Given the description of an element on the screen output the (x, y) to click on. 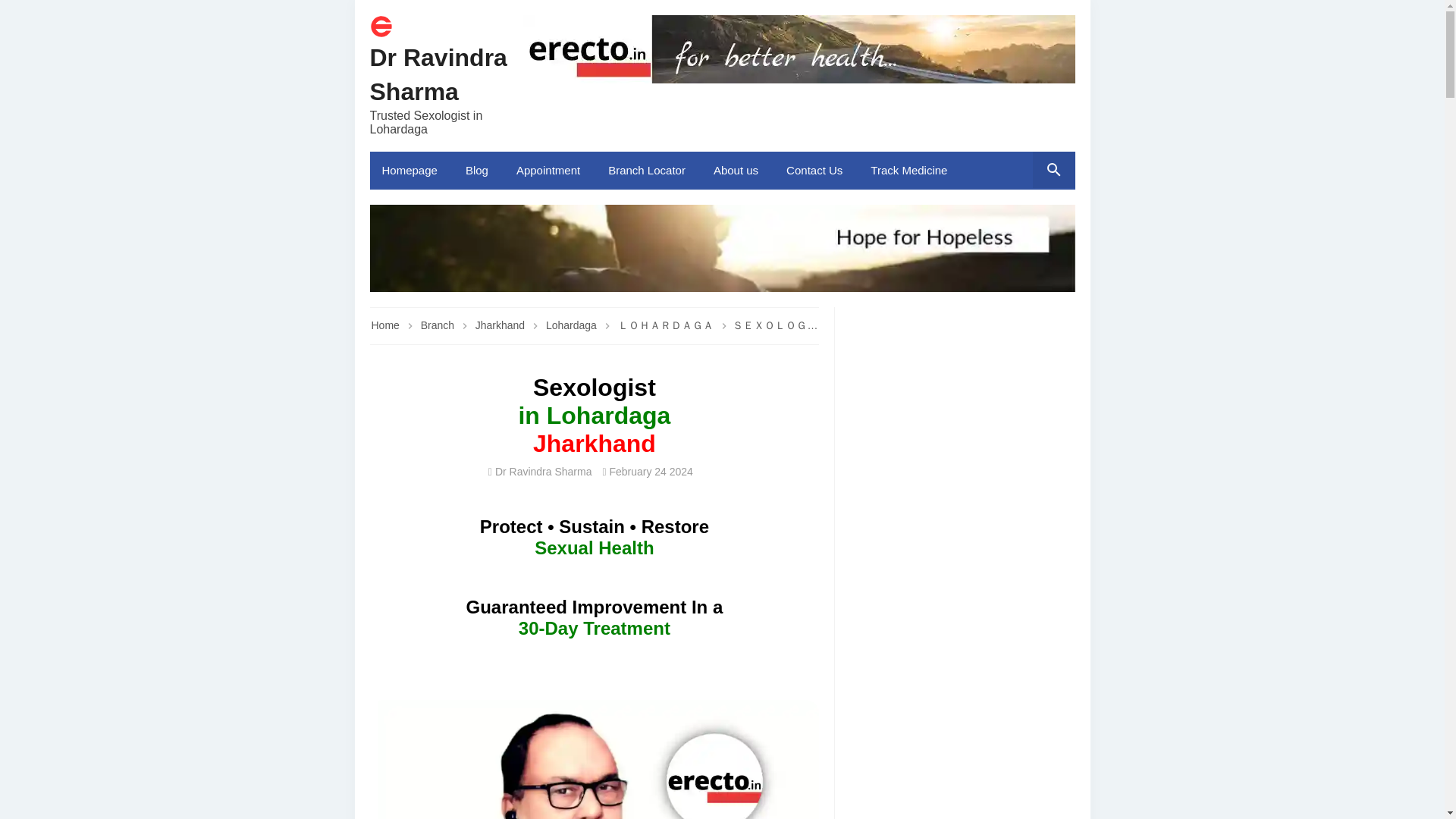
Jharkhand (501, 325)
Sexologist in Lohardaga (594, 759)
Blog (477, 170)
Homepage (410, 170)
Dr Ravindra Sharma (437, 74)
Appointment (549, 170)
Dr Ravindra Sharma (437, 74)
Home (381, 33)
permanent link (650, 471)
Sexologist in Lohardaga (594, 759)
Lohardaga (666, 325)
Sexologist in Lohardaga (722, 247)
Homepage (410, 170)
Contact Us (816, 170)
Branch (438, 325)
